Given the description of an element on the screen output the (x, y) to click on. 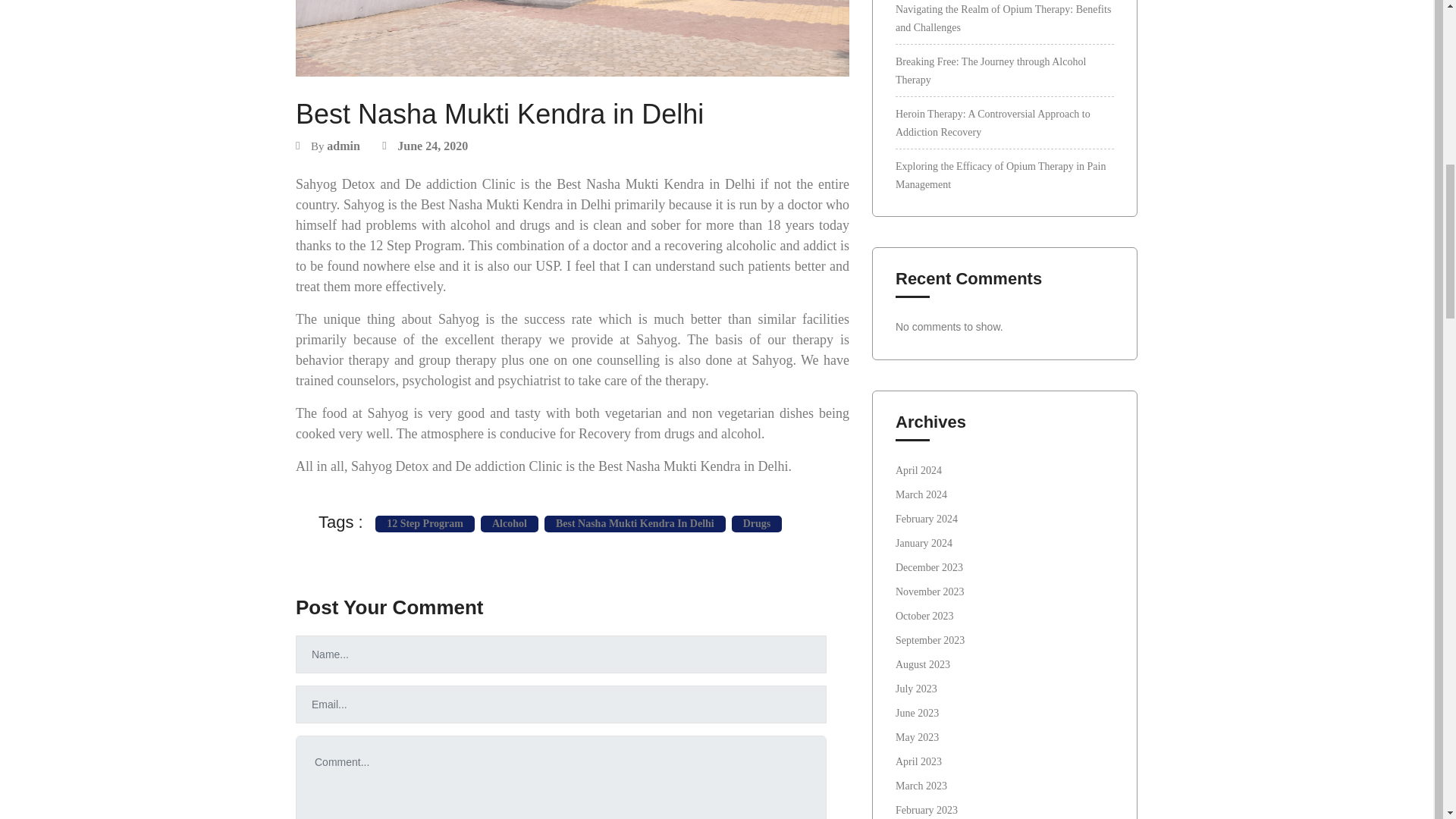
Alcohol (509, 523)
12 Step Program (424, 523)
Best Nasha Mukti Kendra In Delhi (634, 523)
Drugs (757, 523)
admin (342, 145)
June 24, 2020 (432, 145)
